Given the description of an element on the screen output the (x, y) to click on. 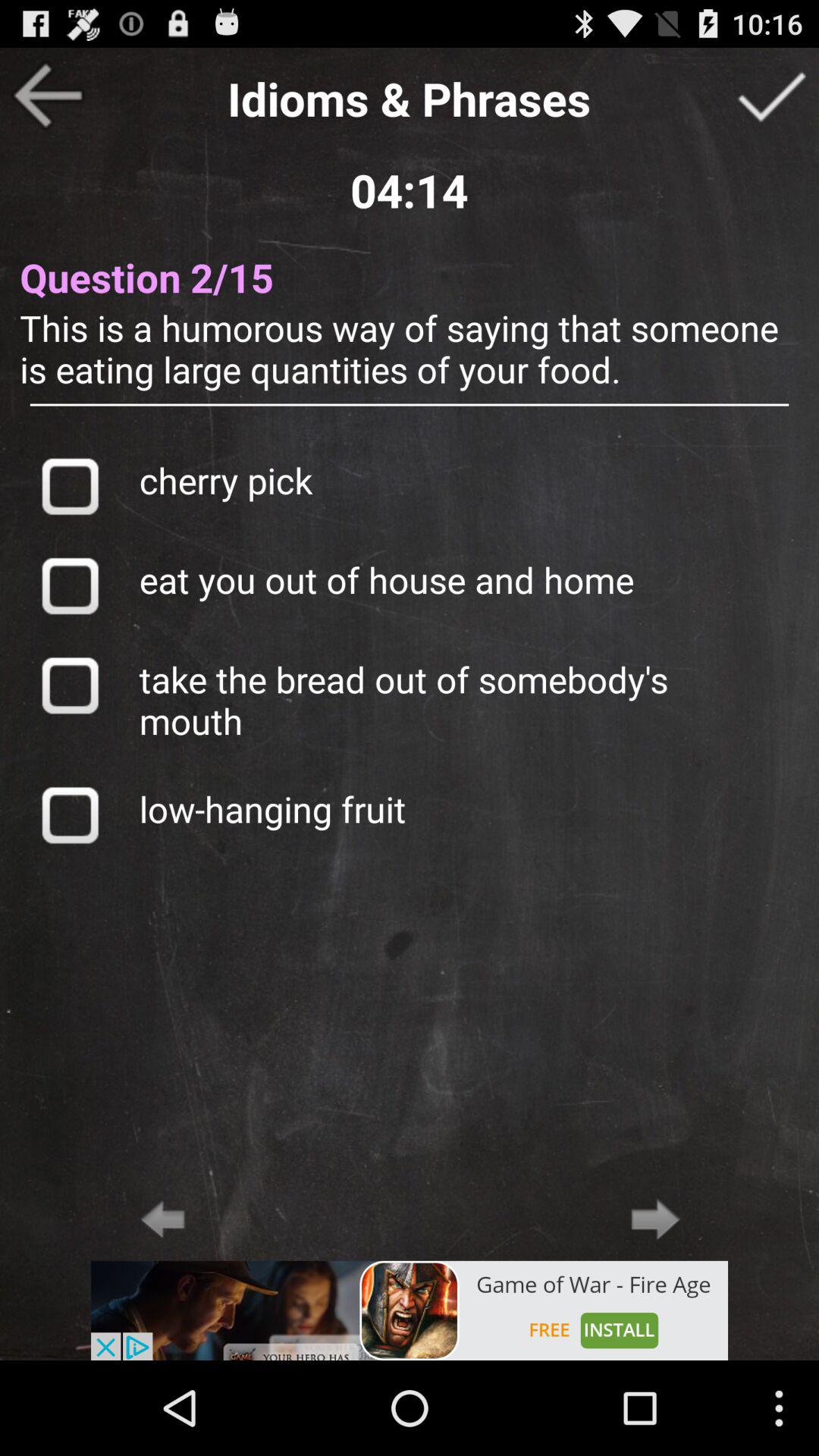
answer question (771, 95)
